Given the description of an element on the screen output the (x, y) to click on. 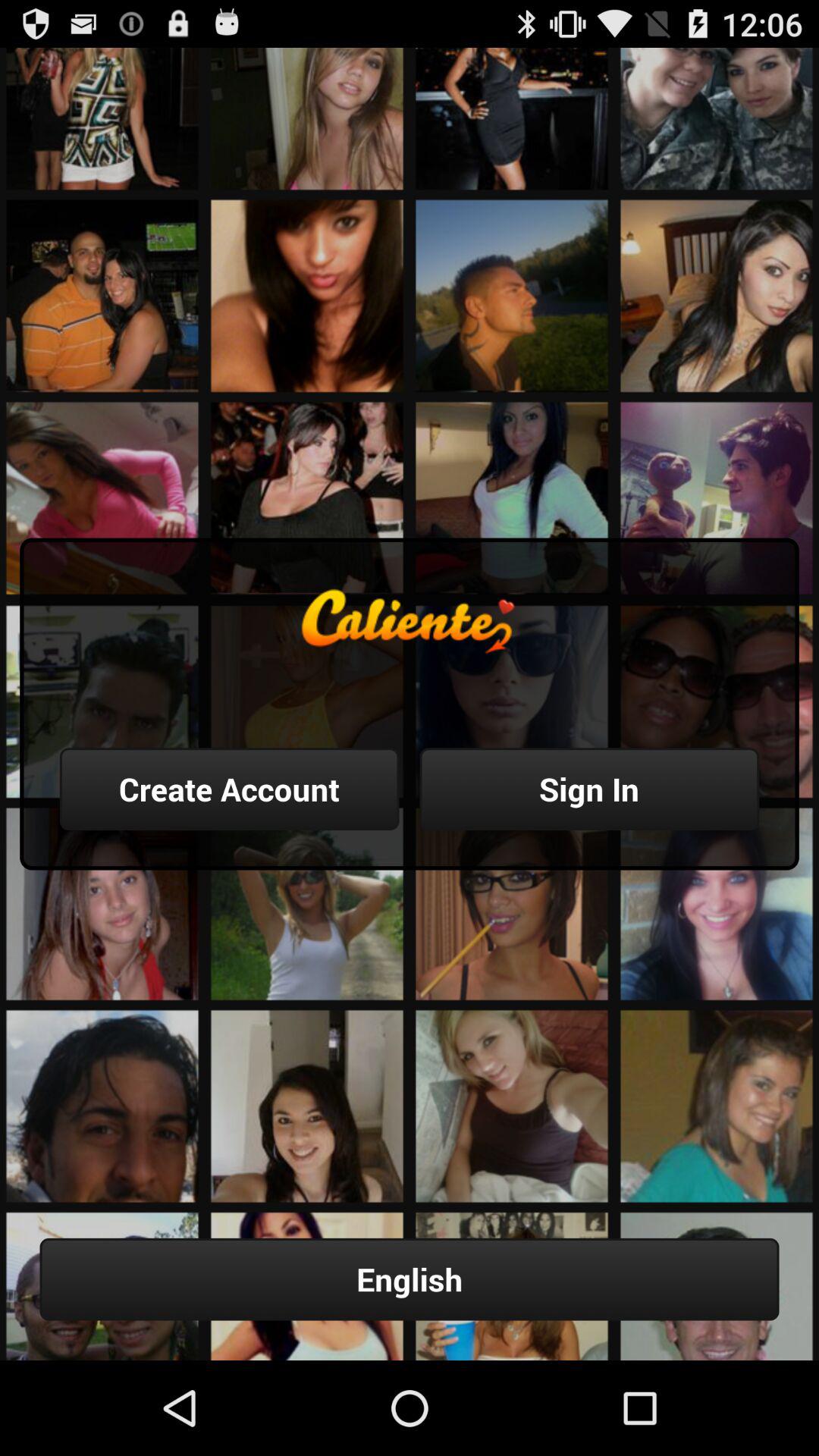
launch the create account icon (229, 788)
